Given the description of an element on the screen output the (x, y) to click on. 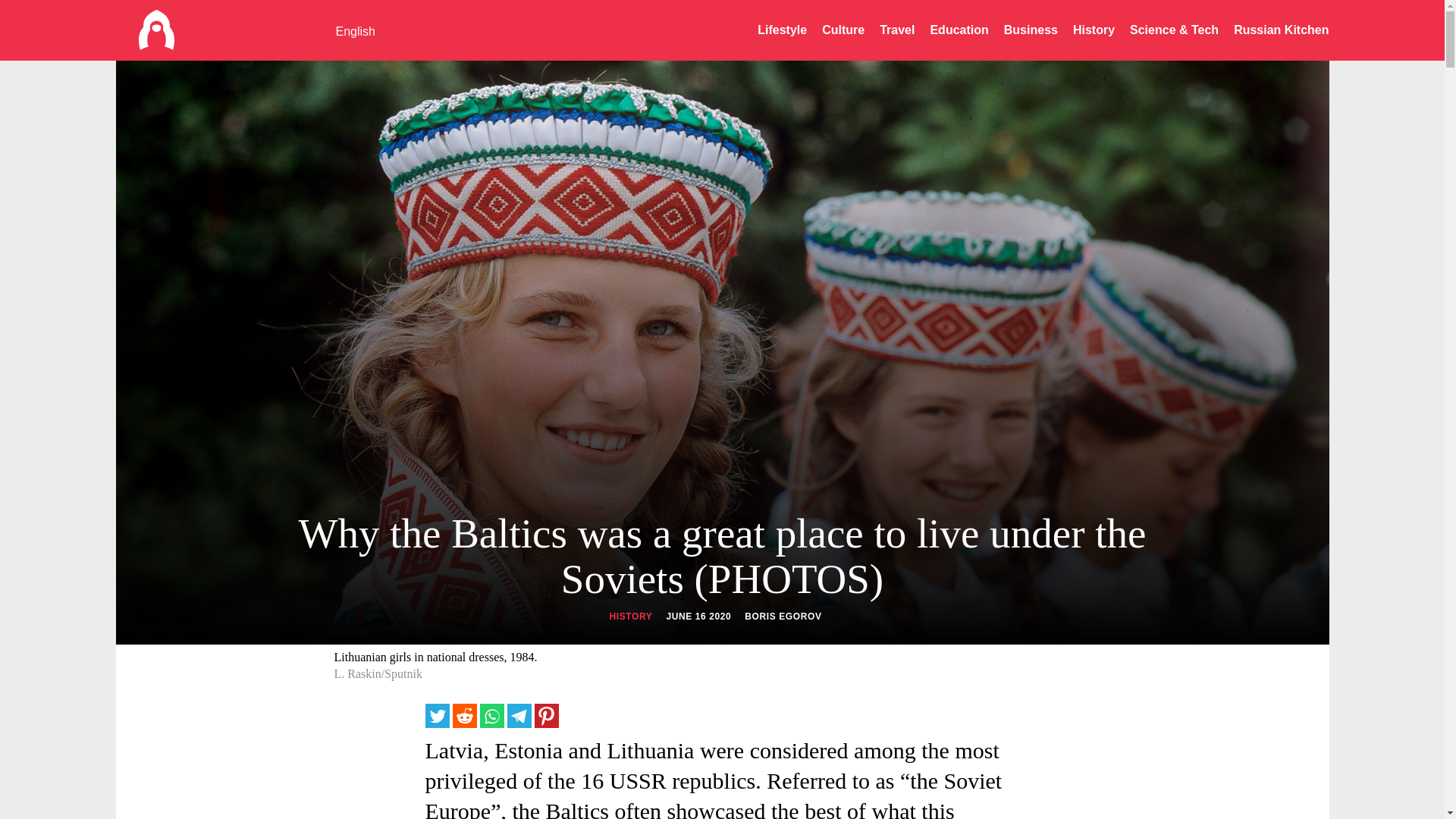
Education (959, 30)
HISTORY (630, 615)
BORIS EGOROV (782, 615)
Russian Kitchen (1280, 30)
